Given the description of an element on the screen output the (x, y) to click on. 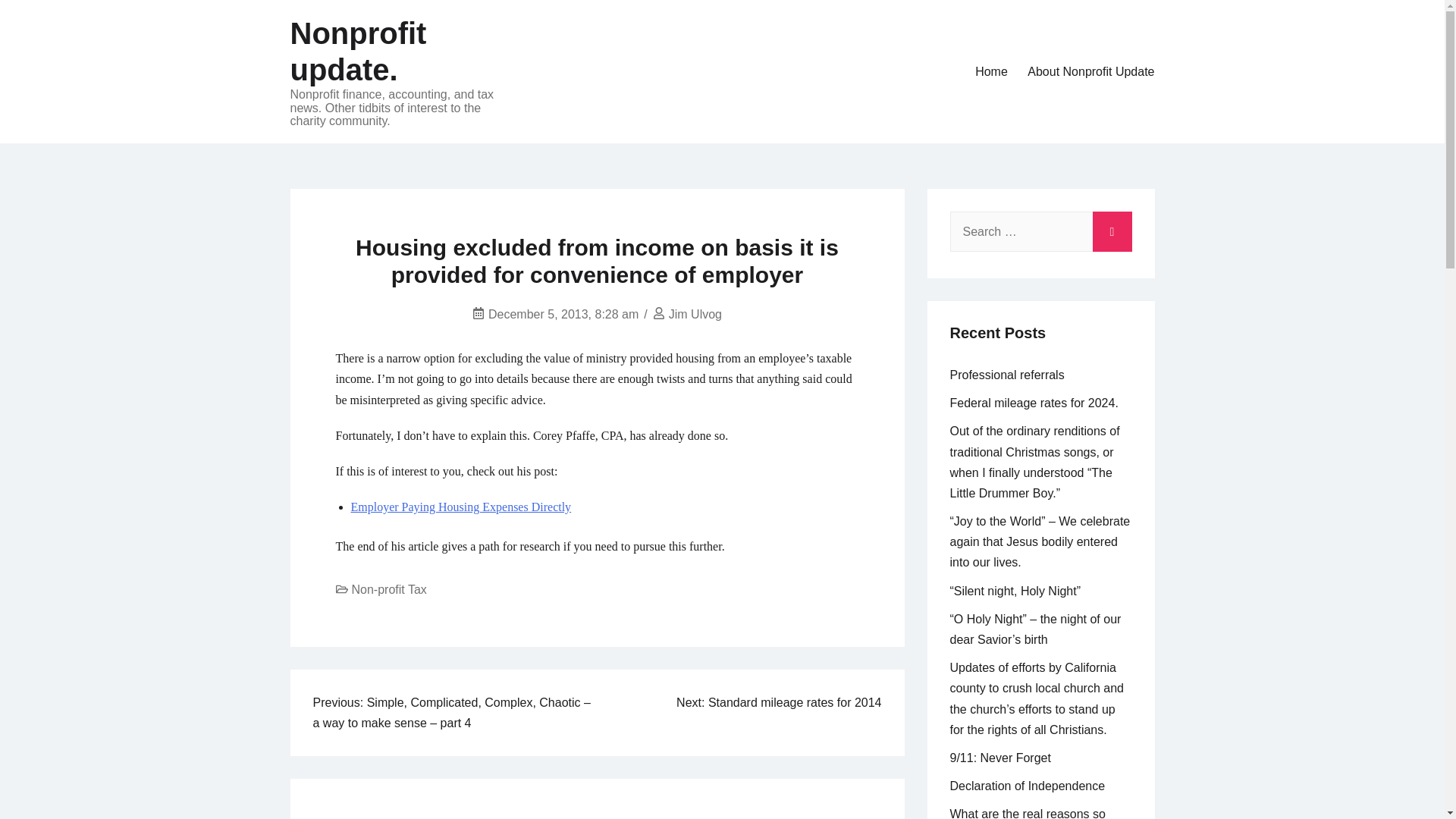
Next: Standard mileage rates for 2014 (778, 702)
Home (991, 71)
About Nonprofit Update (1090, 71)
Non-profit Tax (389, 589)
Professional referrals (1006, 374)
Search (1111, 227)
Jim Ulvog (695, 314)
Federal mileage rates for 2024. (1033, 402)
December 5, 2013, 8:28 am (563, 314)
